Given the description of an element on the screen output the (x, y) to click on. 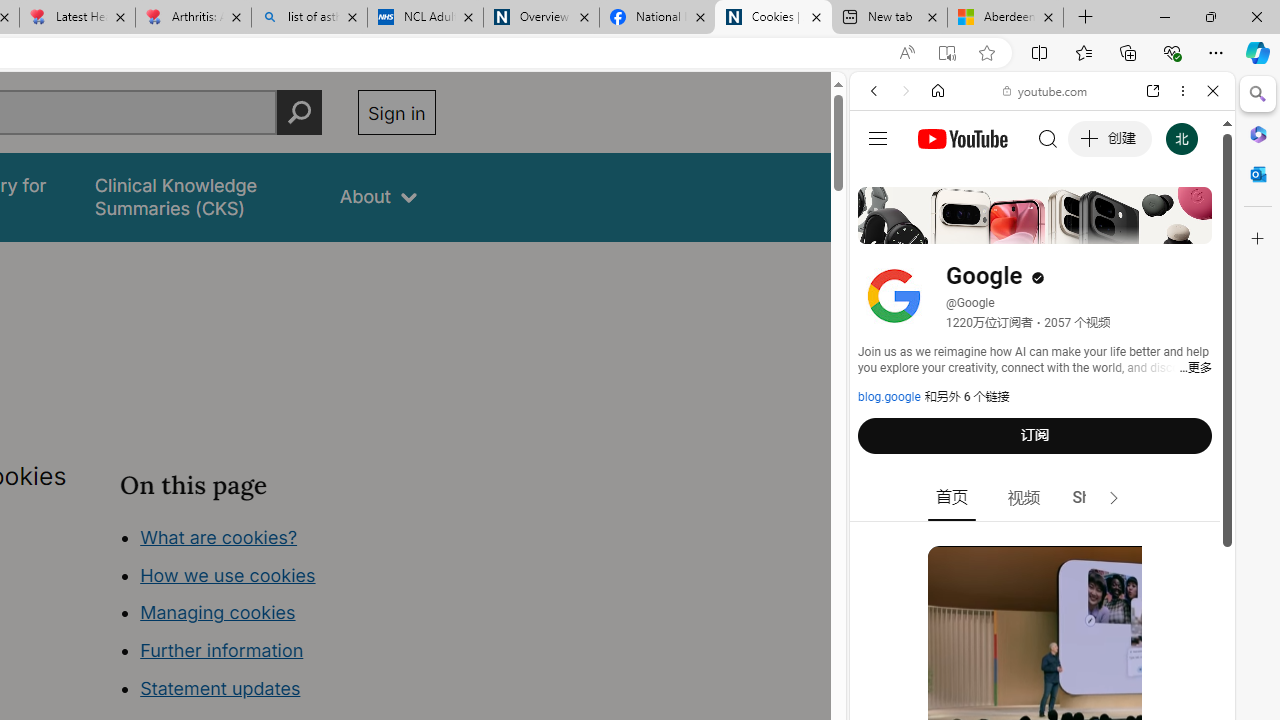
#you (1042, 445)
WEB   (882, 228)
SEARCH TOOLS (1093, 228)
AutomationID: right (1113, 497)
Search Filter, Search Tools (1093, 228)
